Given the description of an element on the screen output the (x, y) to click on. 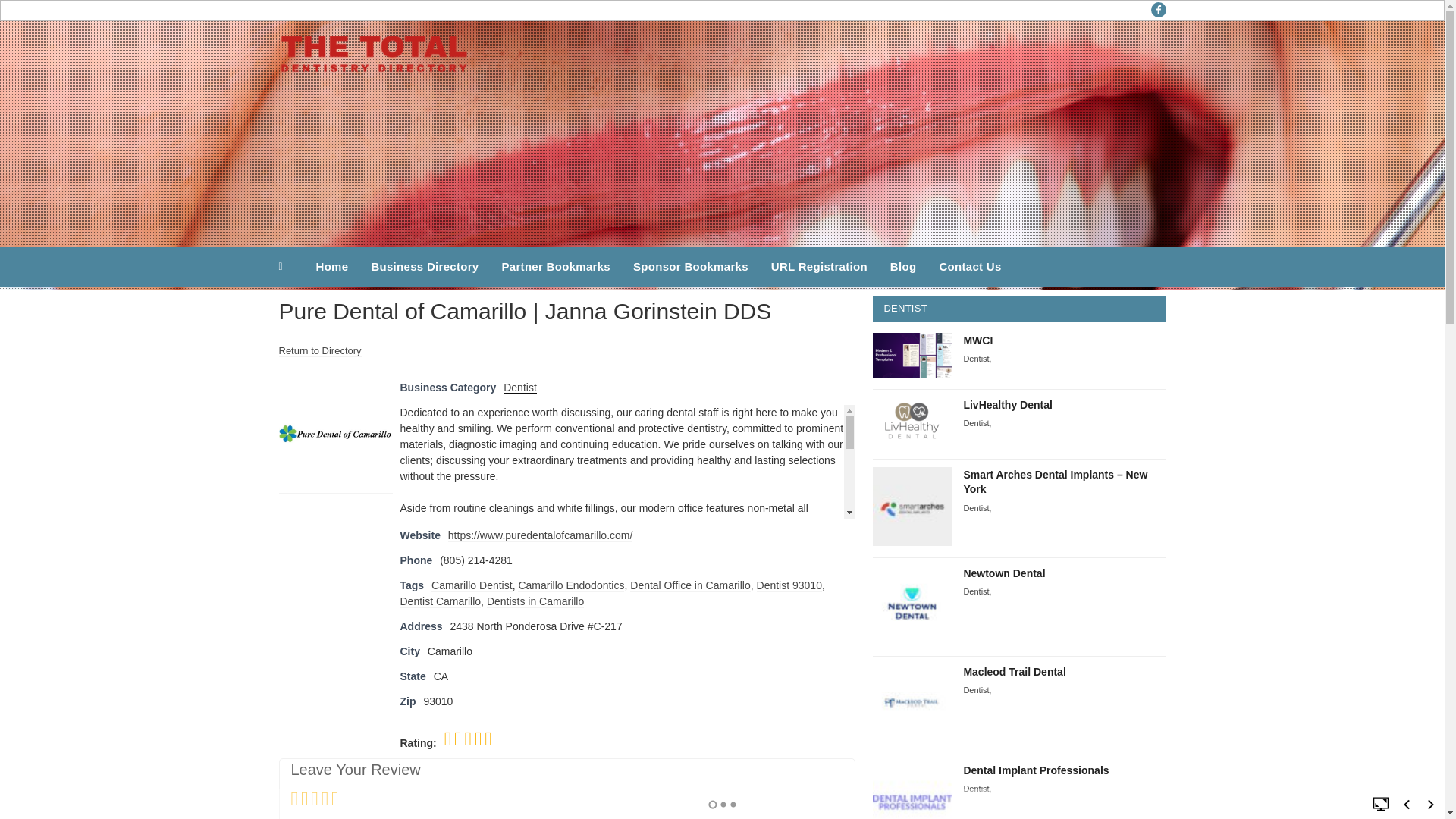
Dentist (975, 507)
Dentist (975, 507)
MWCI (977, 339)
Business Directory (424, 267)
facebook (1158, 9)
Dentists in Camarillo (534, 600)
Macleod Trail Dental (1013, 671)
Sponsor Bookmarks (690, 267)
Newtown Dental (1003, 573)
Camarillo Dentist (471, 585)
Contact Us (969, 267)
Dental Office in Camarillo (689, 585)
Return to Directory (320, 350)
Dentist 93010 (789, 585)
Dentist (975, 358)
